Given the description of an element on the screen output the (x, y) to click on. 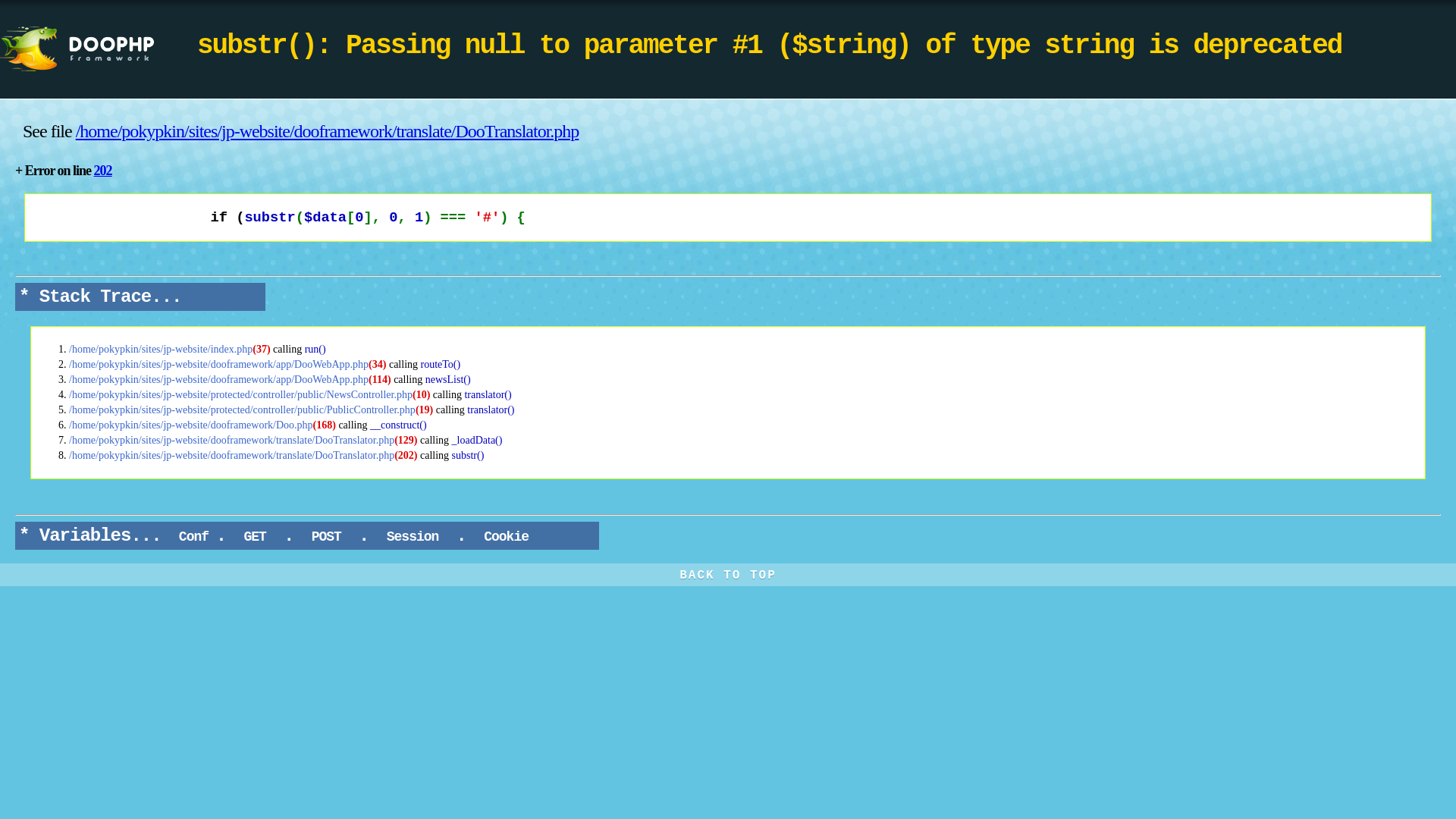
 Conf Element type: text (193, 536)
202 Element type: text (103, 170)
DooPHP Element type: text (98, 49)
 Cookie  Element type: text (505, 536)
 Session  Element type: text (412, 536)
 POST  Element type: text (326, 536)
 GET  Element type: text (254, 536)
